Given the description of an element on the screen output the (x, y) to click on. 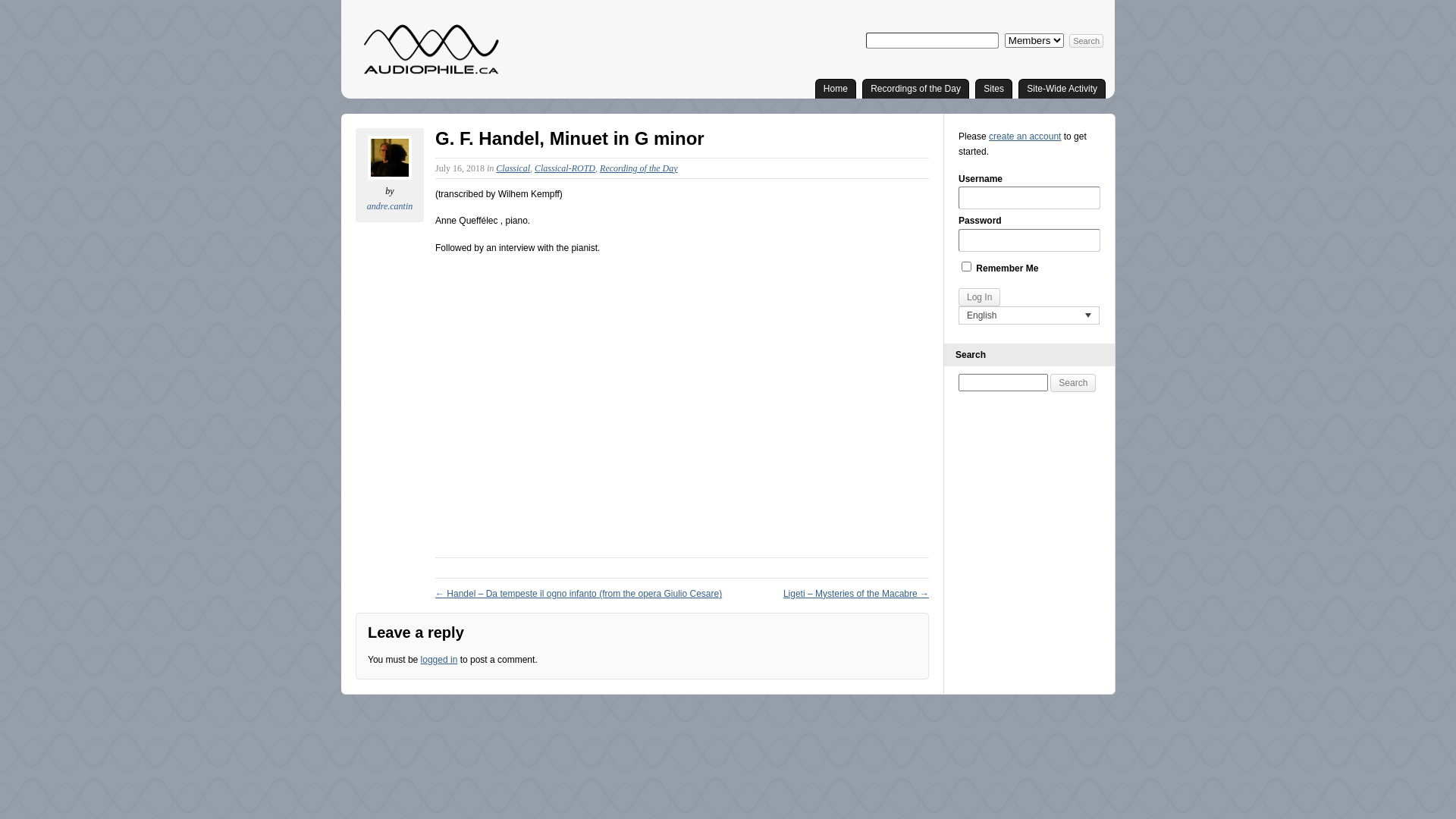
English Element type: text (1028, 315)
Classical-ROTD Element type: text (564, 168)
Home Element type: text (835, 87)
Recording of the Day Element type: text (638, 168)
andre.cantin Element type: text (390, 205)
logged in Element type: text (439, 659)
Sites Element type: text (993, 87)
create an account Element type: text (1024, 136)
Search Element type: text (1086, 40)
Log In Element type: text (979, 297)
Classical Element type: text (512, 168)
Site-Wide Activity Element type: text (1061, 87)
Recordings of the Day Element type: text (915, 87)
Search Element type: text (1072, 382)
